Given the description of an element on the screen output the (x, y) to click on. 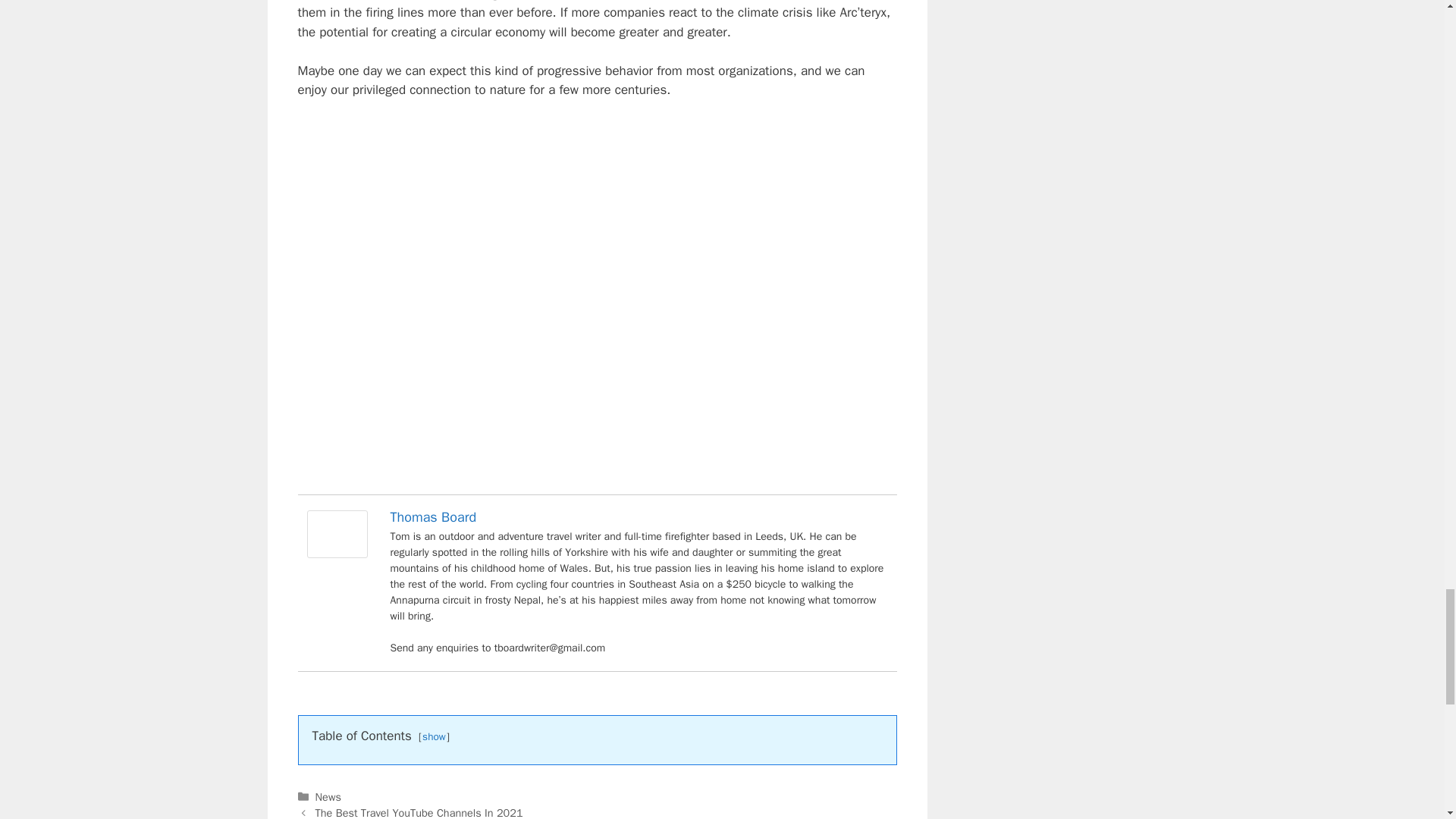
show (433, 736)
Thomas Board (433, 516)
The Best Travel YouTube Channels In 2021 (418, 812)
News (327, 796)
Thomas Board (335, 553)
